Given the description of an element on the screen output the (x, y) to click on. 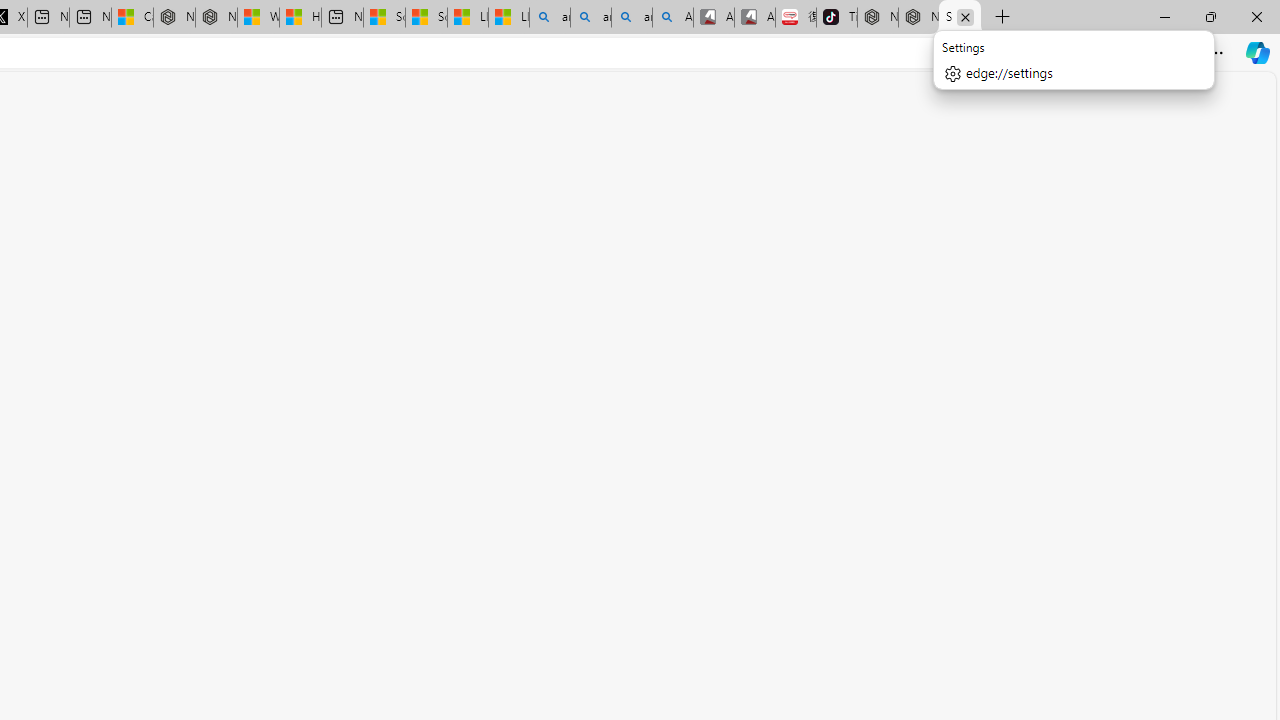
amazon - Search Images (631, 17)
Nordace - Best Sellers (877, 17)
All Cubot phones (754, 17)
TikTok (836, 17)
